Given the description of an element on the screen output the (x, y) to click on. 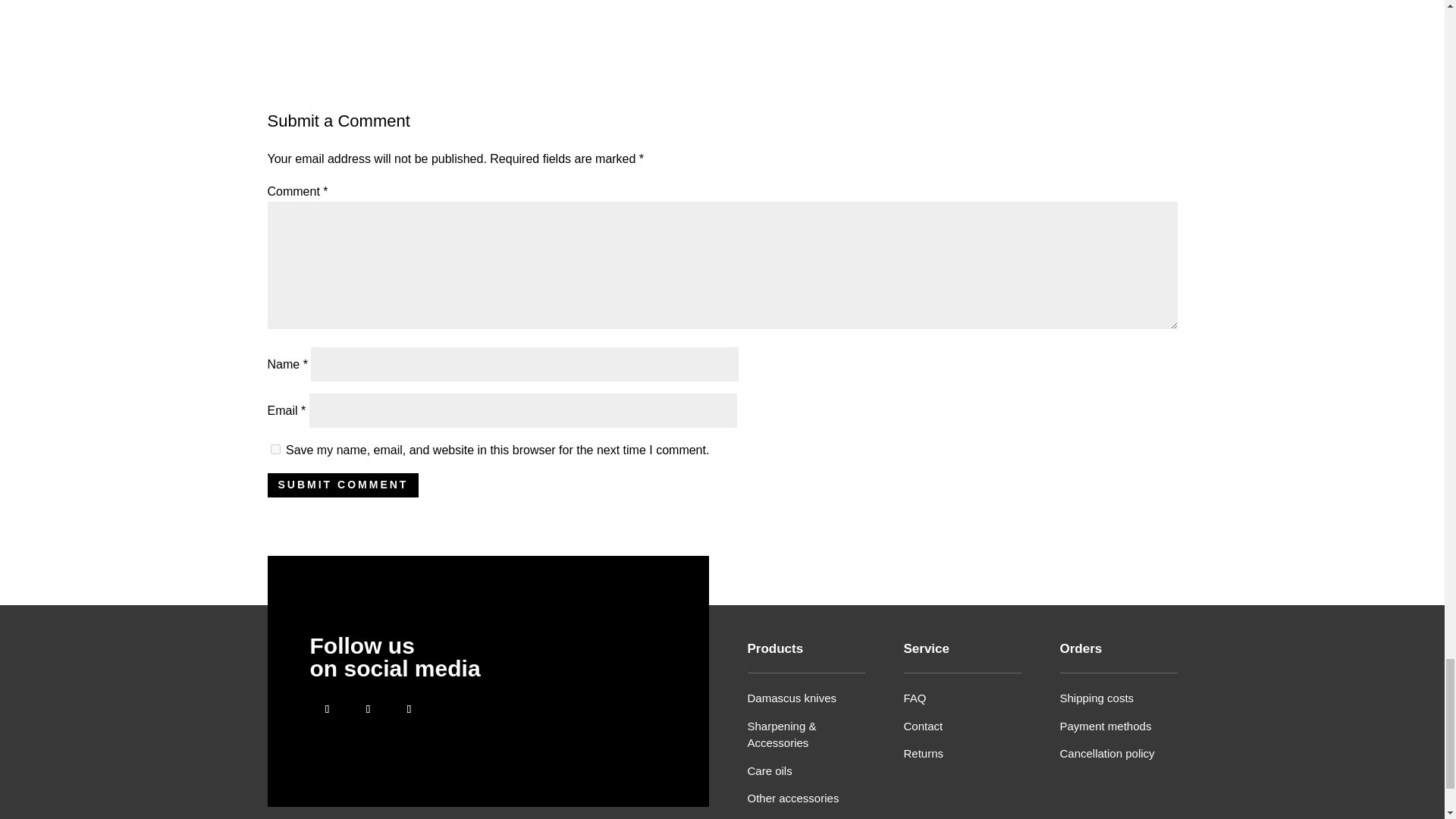
Submit Comment (342, 485)
Cancellation policy (1106, 753)
FAQ (915, 697)
Follow on Facebook (325, 708)
Submit Comment (342, 485)
Follow on Youtube (408, 708)
Returns (923, 753)
yes (274, 449)
Shipping costs (1096, 697)
Other accessories (794, 797)
